Given the description of an element on the screen output the (x, y) to click on. 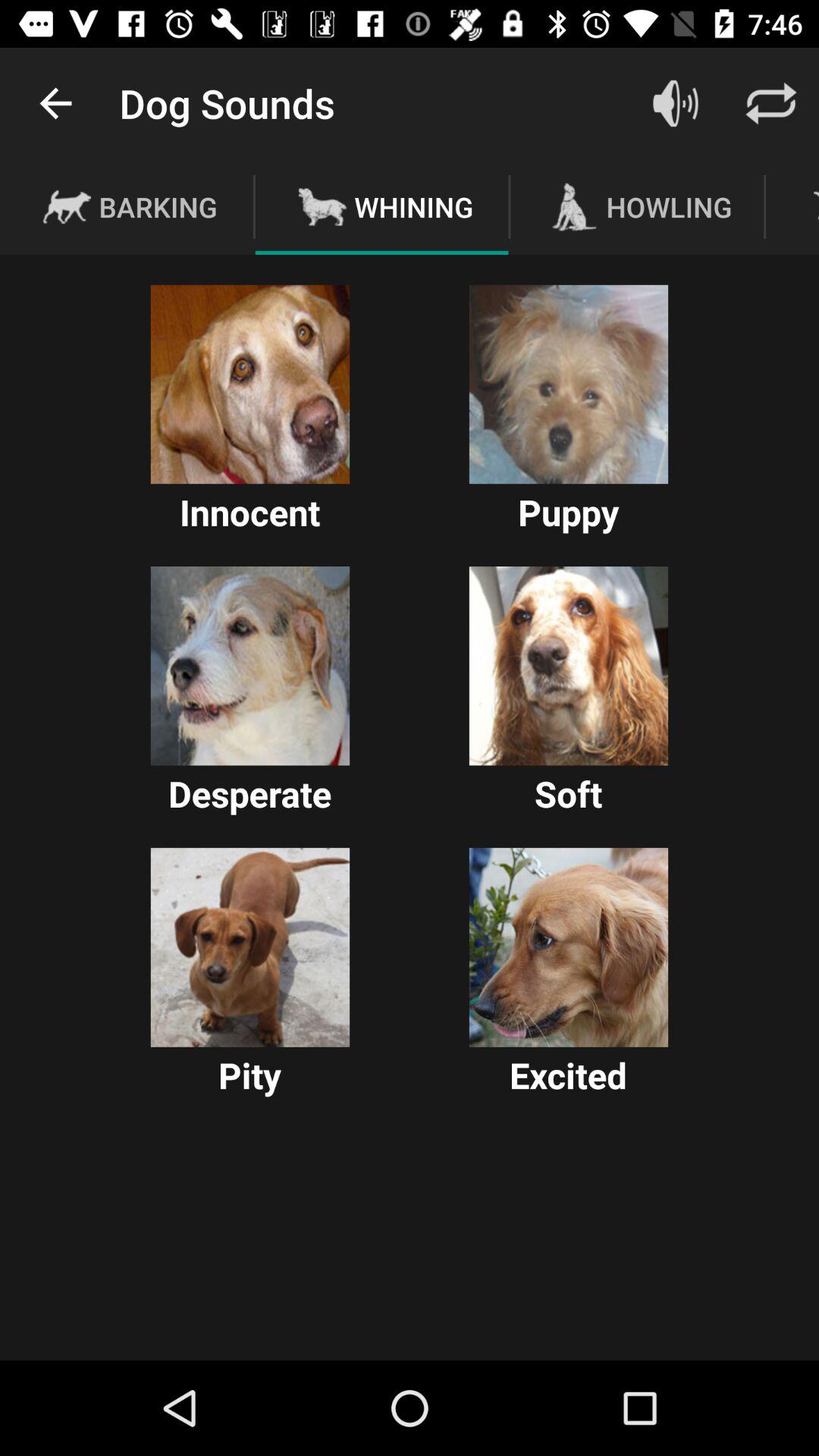
play soft dog sound (568, 665)
